Given the description of an element on the screen output the (x, y) to click on. 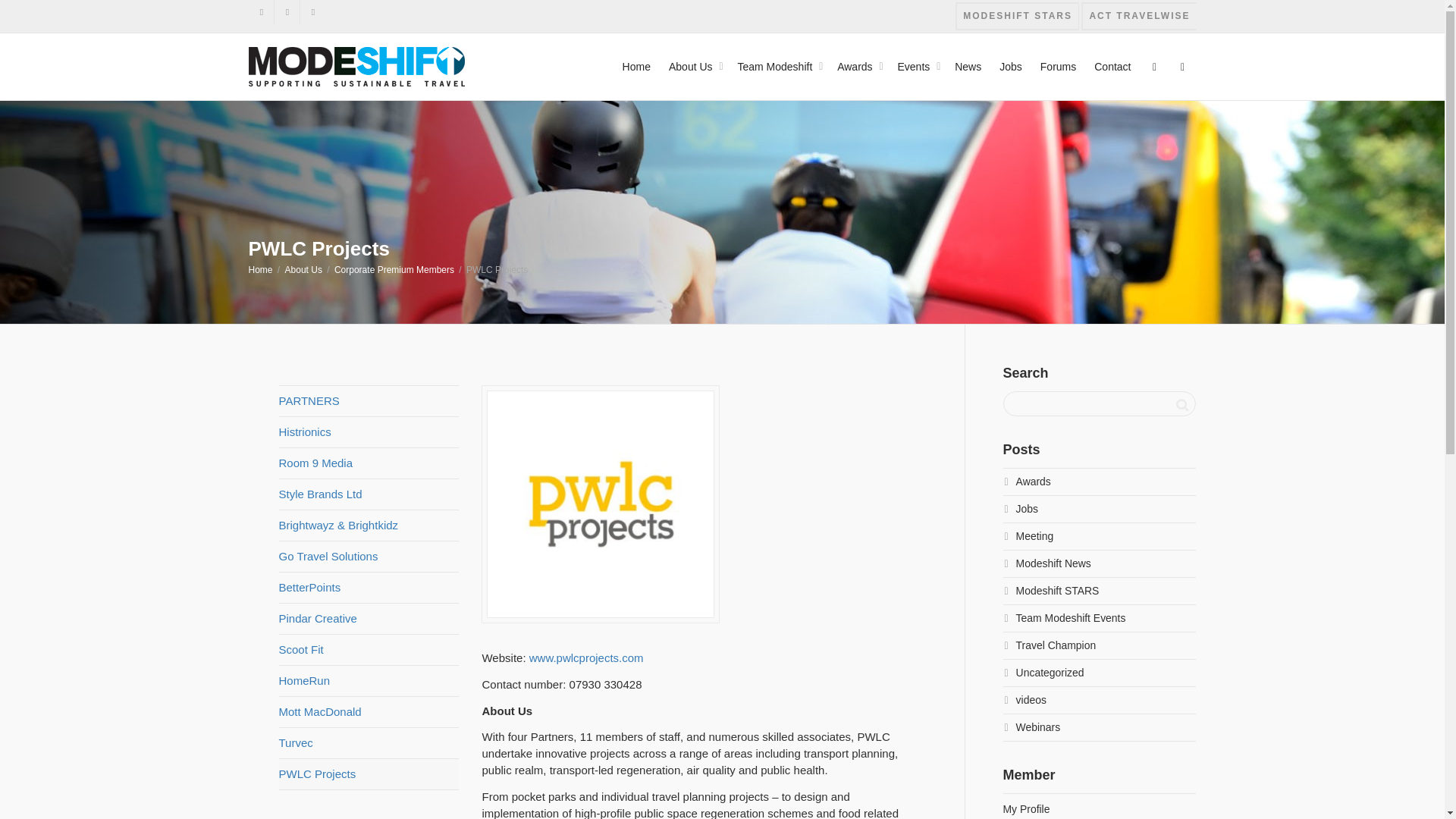
Search (1181, 404)
Modeshift - Sustainable Travel (356, 65)
Team Modeshift (777, 66)
Act TravelWise (1138, 16)
MODESHIFT STARS (1016, 16)
Team Modeshift (777, 66)
Search (1181, 404)
About Us (303, 269)
Corporate Premium Members (394, 269)
Modeshift STARS (1016, 16)
ACT TRAVELWISE (1138, 16)
Home (260, 269)
